Given the description of an element on the screen output the (x, y) to click on. 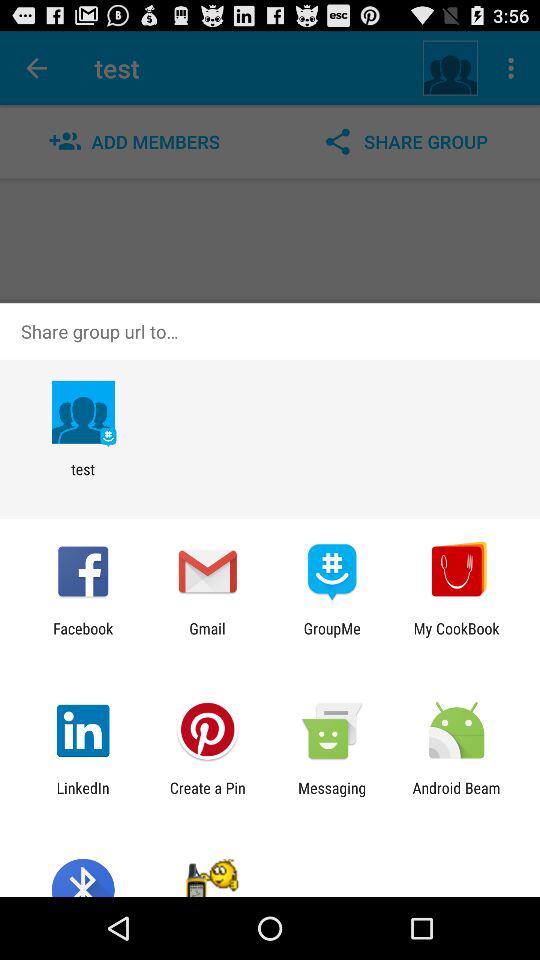
scroll until the messaging app (332, 796)
